Given the description of an element on the screen output the (x, y) to click on. 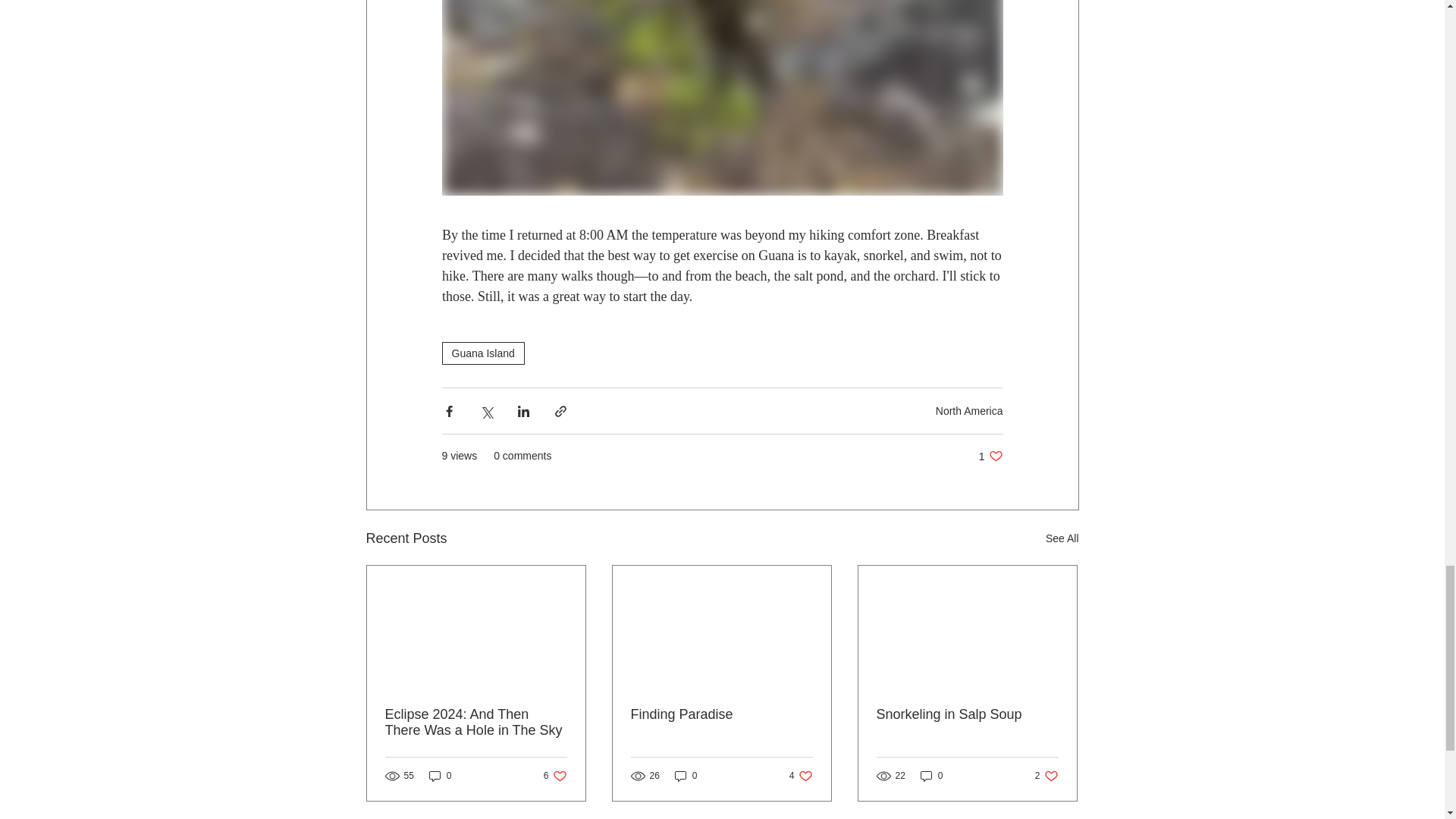
See All (1046, 775)
North America (1061, 538)
0 (969, 410)
Eclipse 2024: And Then There Was a Hole in The Sky (931, 775)
Finding Paradise (476, 722)
0 (721, 714)
Guana Island (990, 455)
